Given the description of an element on the screen output the (x, y) to click on. 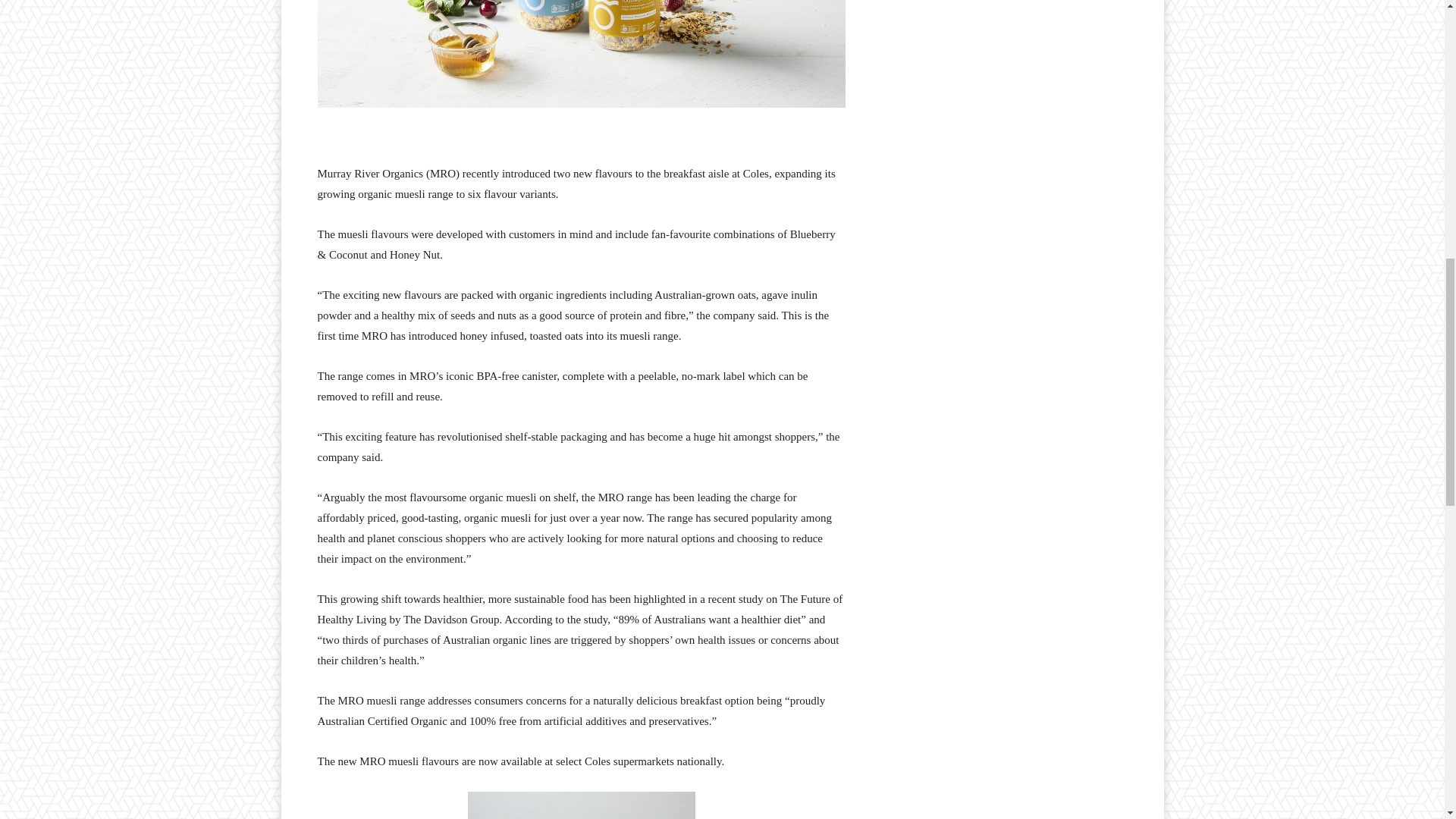
MuesliNewSKU-A (580, 53)
